Given the description of an element on the screen output the (x, y) to click on. 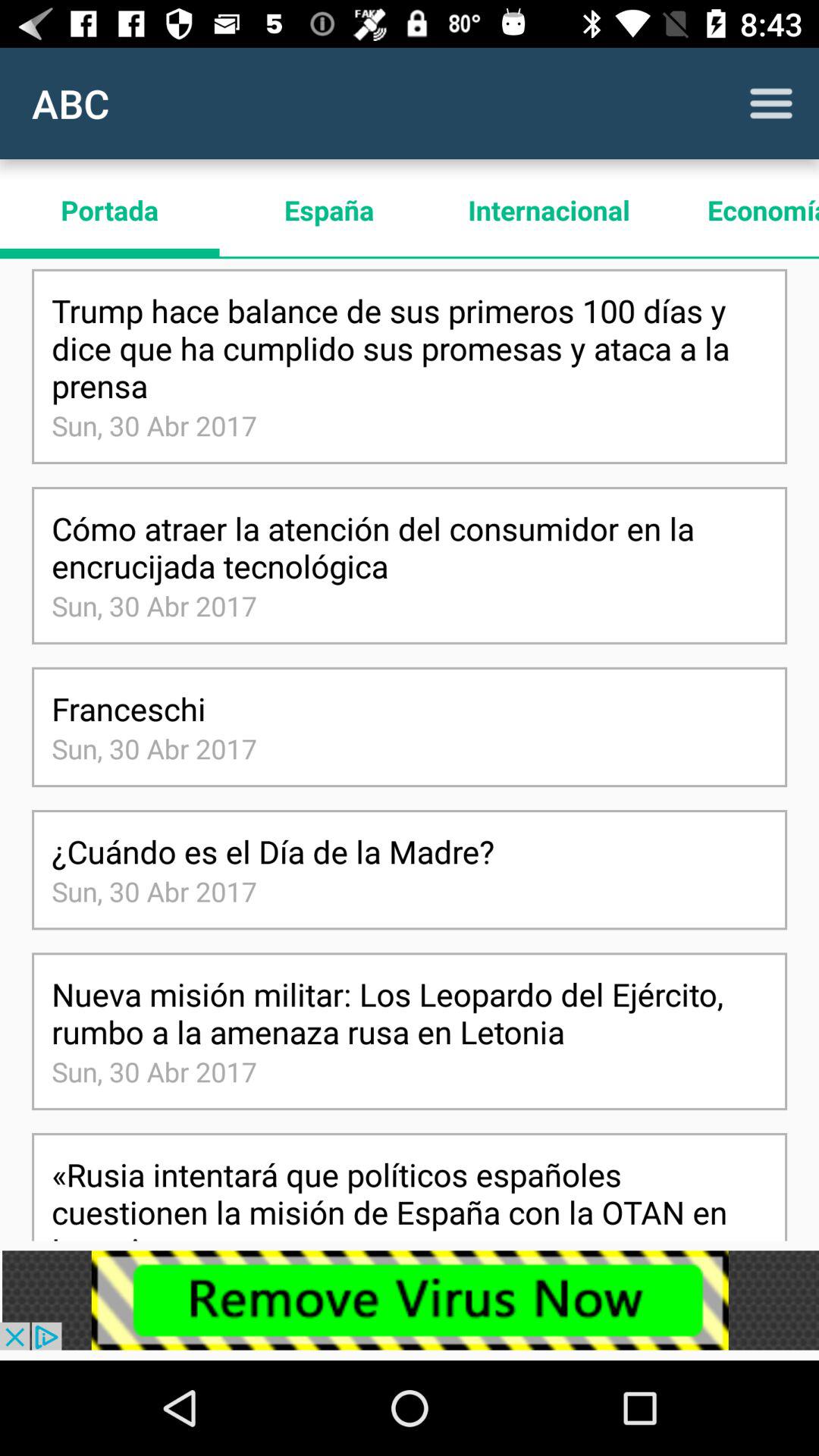
click on advertisement (409, 1300)
